Given the description of an element on the screen output the (x, y) to click on. 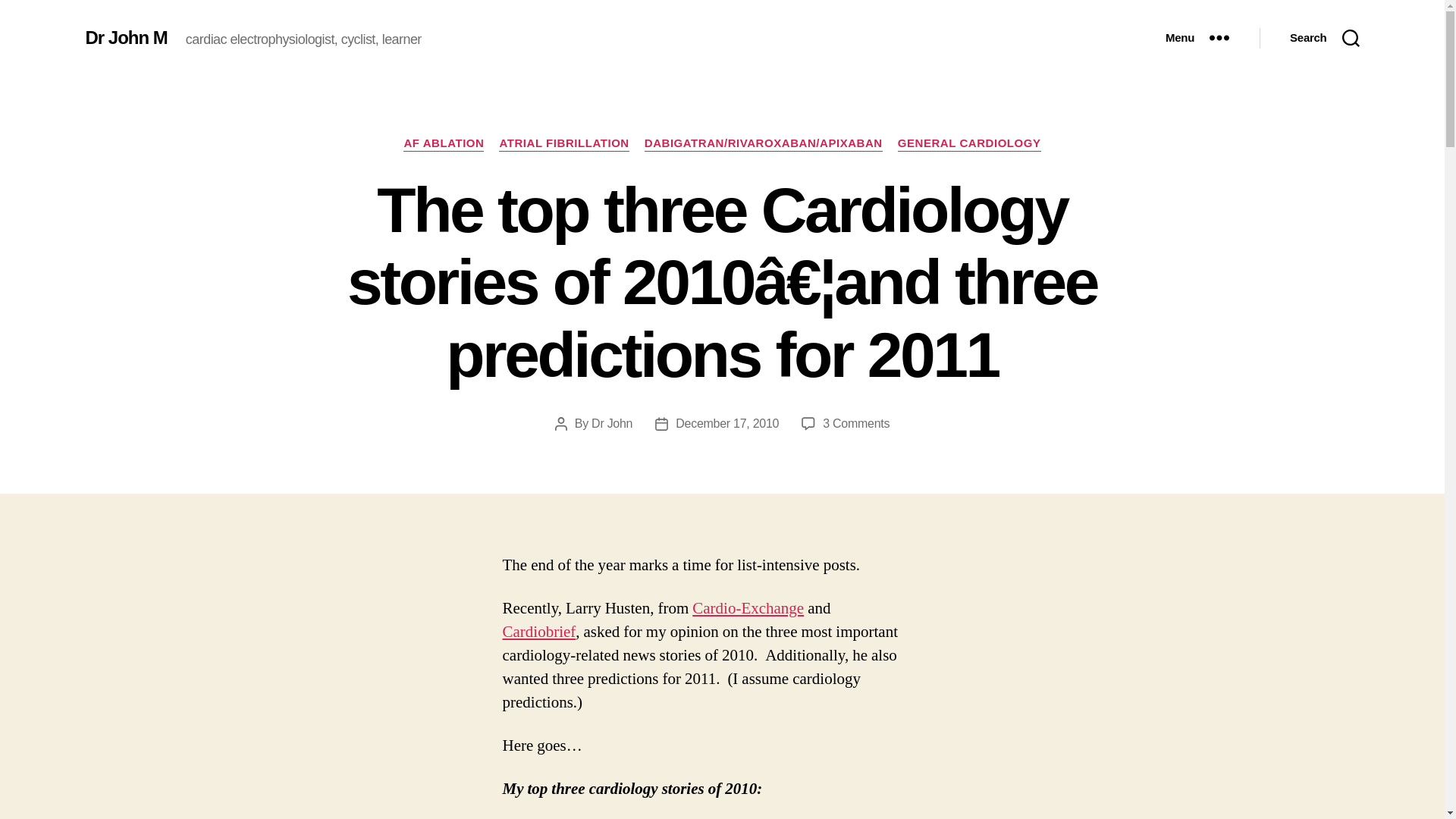
Dr John M (125, 37)
Search (1324, 37)
Menu (1197, 37)
